Given the description of an element on the screen output the (x, y) to click on. 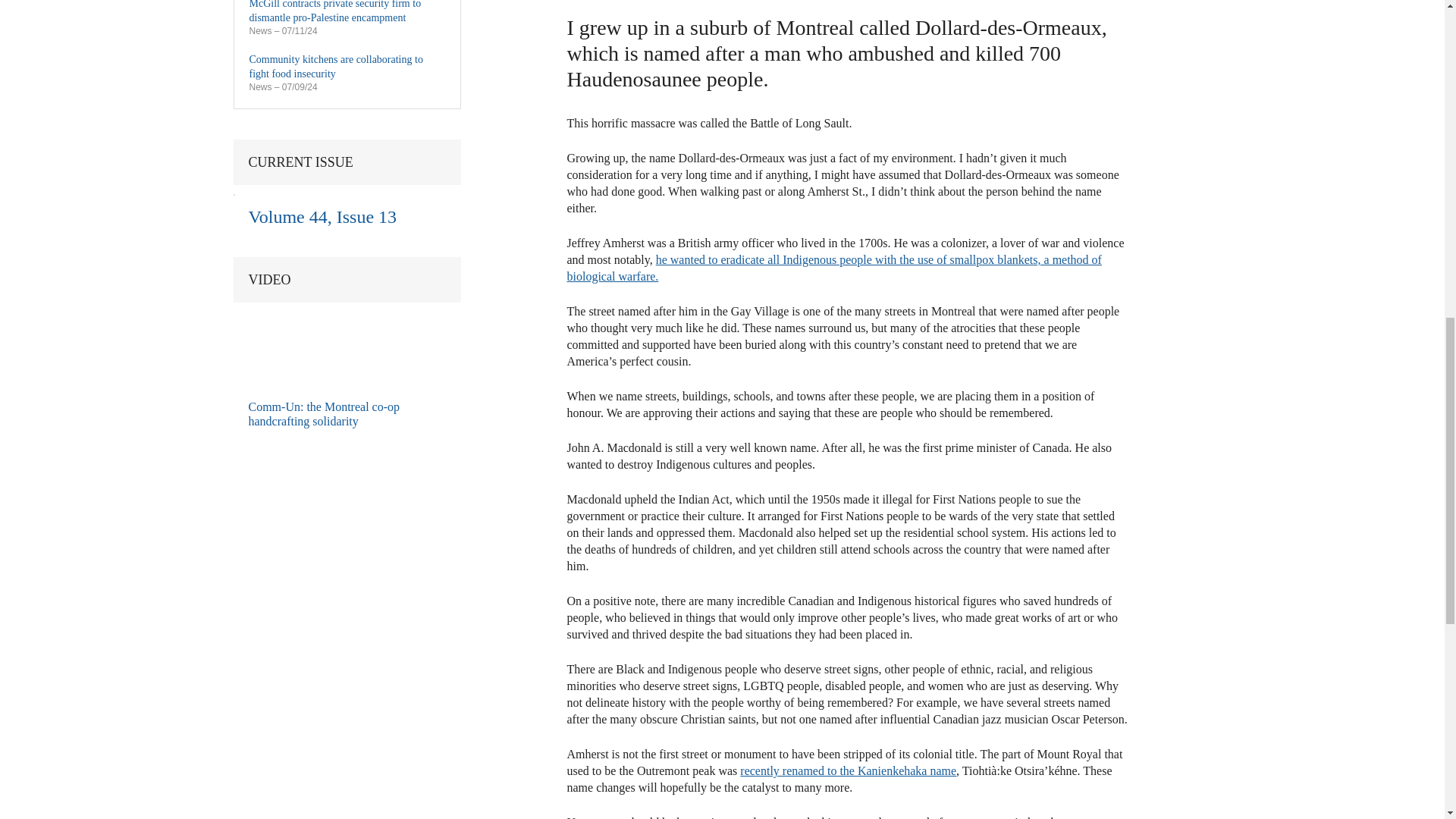
Comm-Un: The Montreal co-op handcrafting solidarity (308, 345)
